Given the description of an element on the screen output the (x, y) to click on. 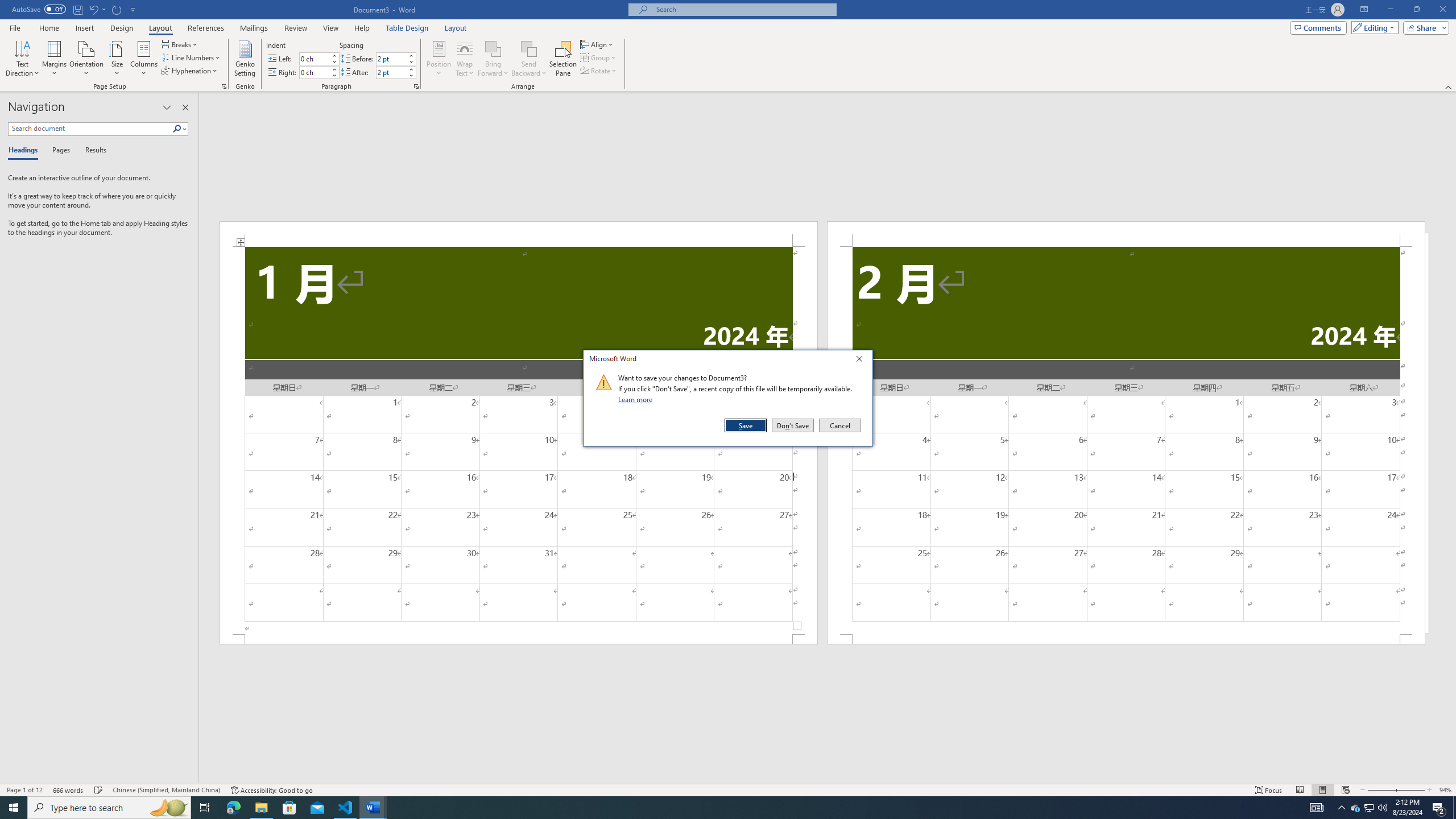
Genko Setting... (244, 58)
Send Backward (528, 58)
Footer -Section 2- (1126, 638)
Page Setup... (223, 85)
